Given the description of an element on the screen output the (x, y) to click on. 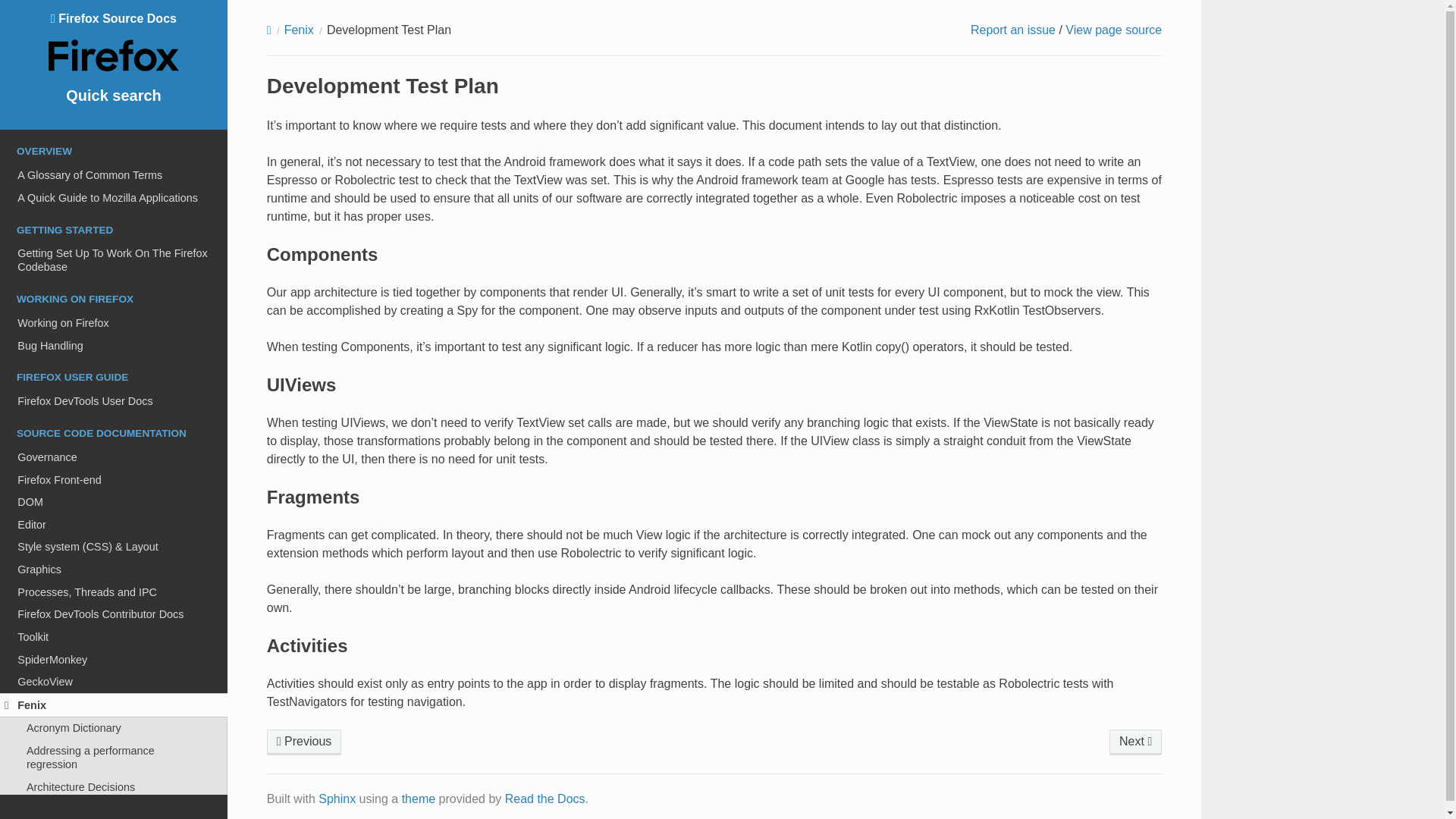
Fennec Migration (1135, 742)
A Quick Guide to Mozilla Applications (113, 197)
Architecture Decisions (113, 786)
GeckoView (113, 681)
Acronym Dictionary (113, 728)
Working on Firefox (113, 323)
Bug Handling (113, 345)
Fenix (113, 704)
Toolkit (113, 636)
A Glossary of Common Terms (113, 174)
